Given the description of an element on the screen output the (x, y) to click on. 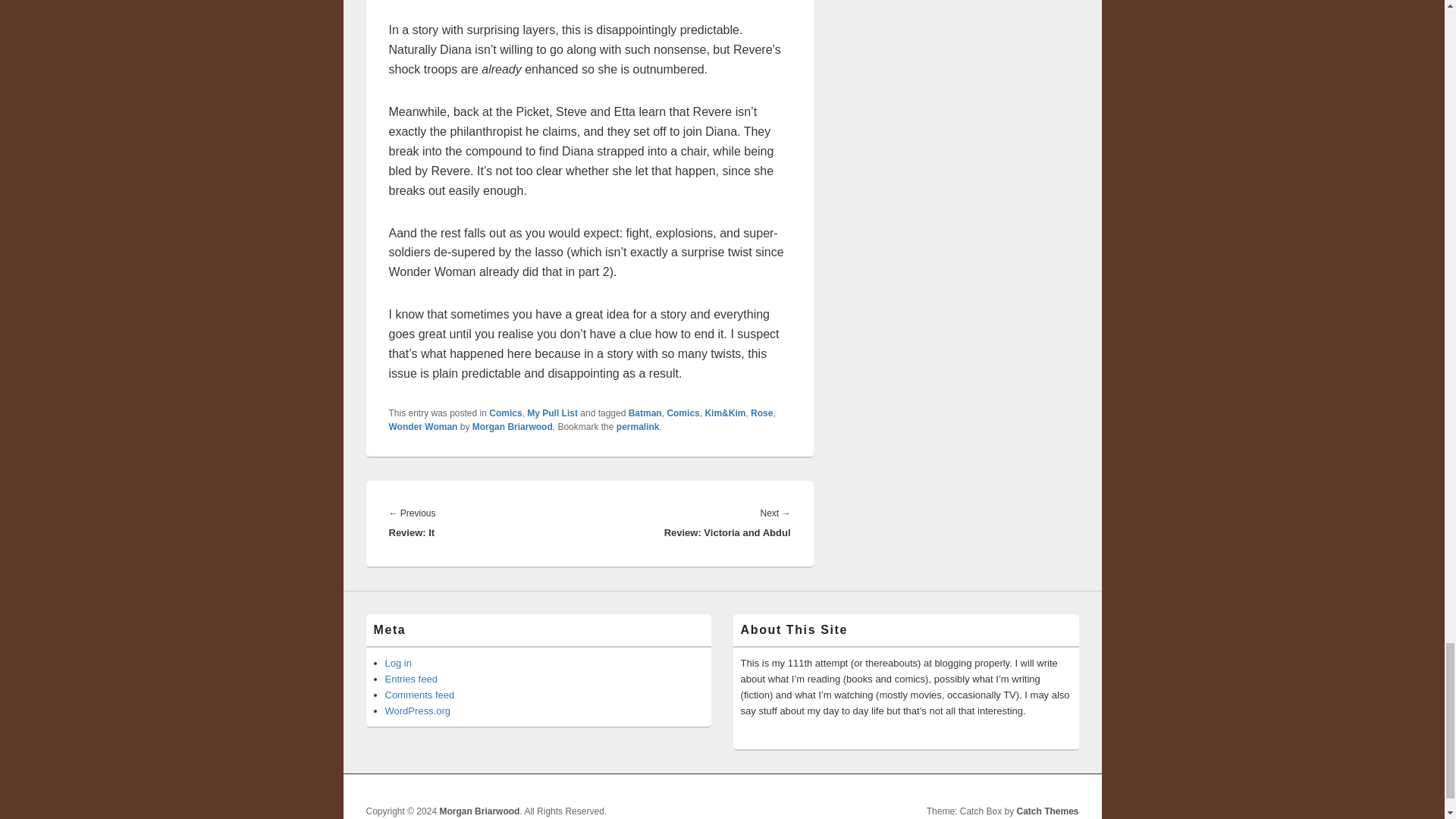
Batman (645, 412)
Comics (505, 412)
Rose (762, 412)
Wonder Woman (422, 426)
My Pull List (552, 412)
Morgan Briarwood (479, 810)
Comics (682, 412)
Catch Themes (1047, 810)
Morgan Briarwood (512, 426)
permalink (637, 426)
